Given the description of an element on the screen output the (x, y) to click on. 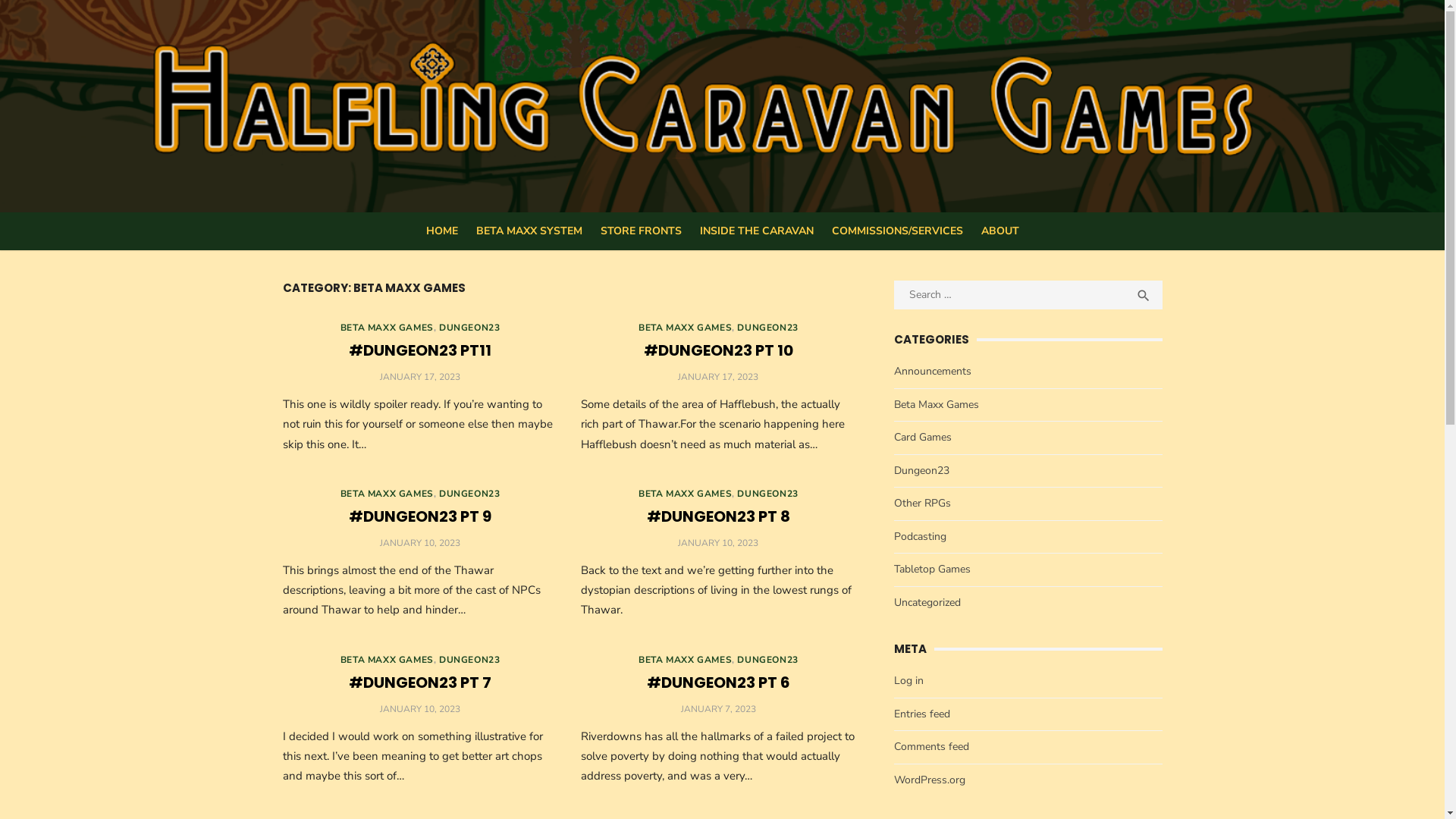
Podcasting Element type: text (920, 536)
#DUNGEON23 PT 10 Element type: text (718, 349)
JANUARY 17, 2023 Element type: text (419, 376)
DUNGEON23 Element type: text (469, 493)
DUNGEON23 Element type: text (469, 327)
DUNGEON23 Element type: text (469, 659)
JANUARY 17, 2023 Element type: text (717, 376)
Comments feed Element type: text (931, 746)
#DUNGEON23 PT 6 Element type: text (718, 682)
#DUNGEON23 PT 8 Element type: text (718, 516)
Beta Maxx Games Element type: text (936, 404)
Announcements Element type: text (932, 371)
BETA MAXX GAMES Element type: text (386, 659)
DUNGEON23 Element type: text (767, 659)
#DUNGEON23 PT11 Element type: text (419, 349)
BETA MAXX GAMES Element type: text (386, 493)
Log in Element type: text (908, 680)
WordPress.org Element type: text (929, 778)
BETA MAXX GAMES Element type: text (684, 493)
#DUNGEON23 PT 9 Element type: text (419, 516)
DUNGEON23 Element type: text (767, 327)
JANUARY 10, 2023 Element type: text (419, 542)
BETA MAXX GAMES Element type: text (684, 327)
Tabletop Games Element type: text (932, 568)
BETA MAXX GAMES Element type: text (386, 327)
STORE FRONTS Element type: text (641, 231)
HOME Element type: text (441, 231)
INSIDE THE CARAVAN Element type: text (755, 231)
ABOUT Element type: text (999, 231)
COMMISSIONS/SERVICES Element type: text (896, 231)
Halfling Caravan Games Element type: text (957, 122)
JANUARY 10, 2023 Element type: text (717, 542)
JANUARY 10, 2023 Element type: text (419, 708)
BETA MAXX SYSTEM Element type: text (528, 231)
Uncategorized Element type: text (927, 601)
Dungeon23 Element type: text (921, 469)
#DUNGEON23 PT 7 Element type: text (419, 682)
Card Games Element type: text (922, 436)
BETA MAXX GAMES Element type: text (684, 659)
Other RPGs Element type: text (922, 502)
JANUARY 7, 2023 Element type: text (718, 708)
DUNGEON23 Element type: text (767, 493)
Entries feed Element type: text (922, 713)
